Given the description of an element on the screen output the (x, y) to click on. 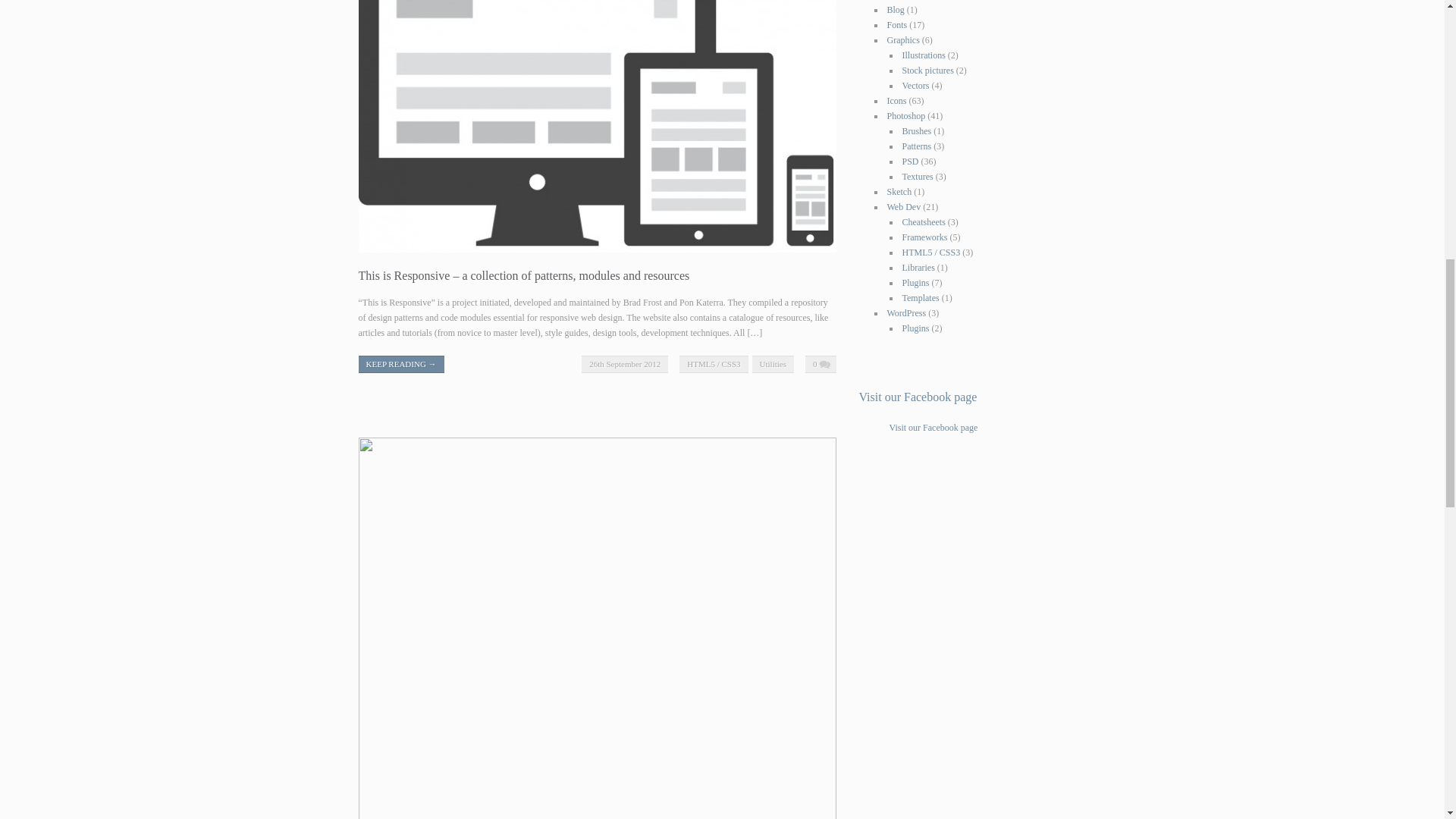
26th September 2012 (624, 364)
Utilities (772, 364)
0 (820, 364)
